Given the description of an element on the screen output the (x, y) to click on. 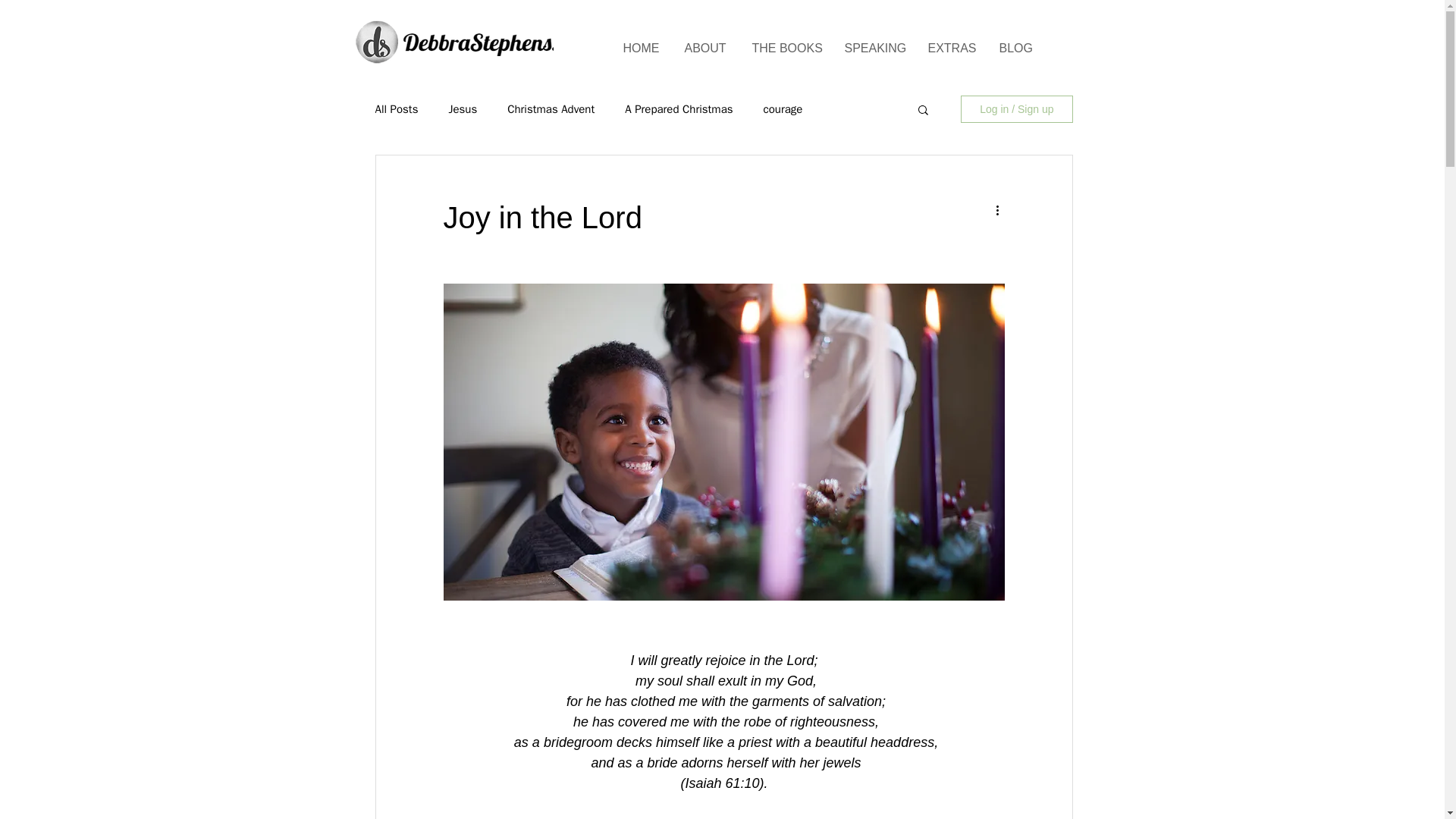
BLOG (1014, 41)
courage (782, 108)
THE BOOKS (784, 41)
A Prepared Christmas (678, 108)
HOME (640, 41)
Christmas Advent (550, 108)
Jesus (462, 108)
EXTRAS (949, 41)
ABOUT (703, 41)
All Posts (395, 108)
